Given the description of an element on the screen output the (x, y) to click on. 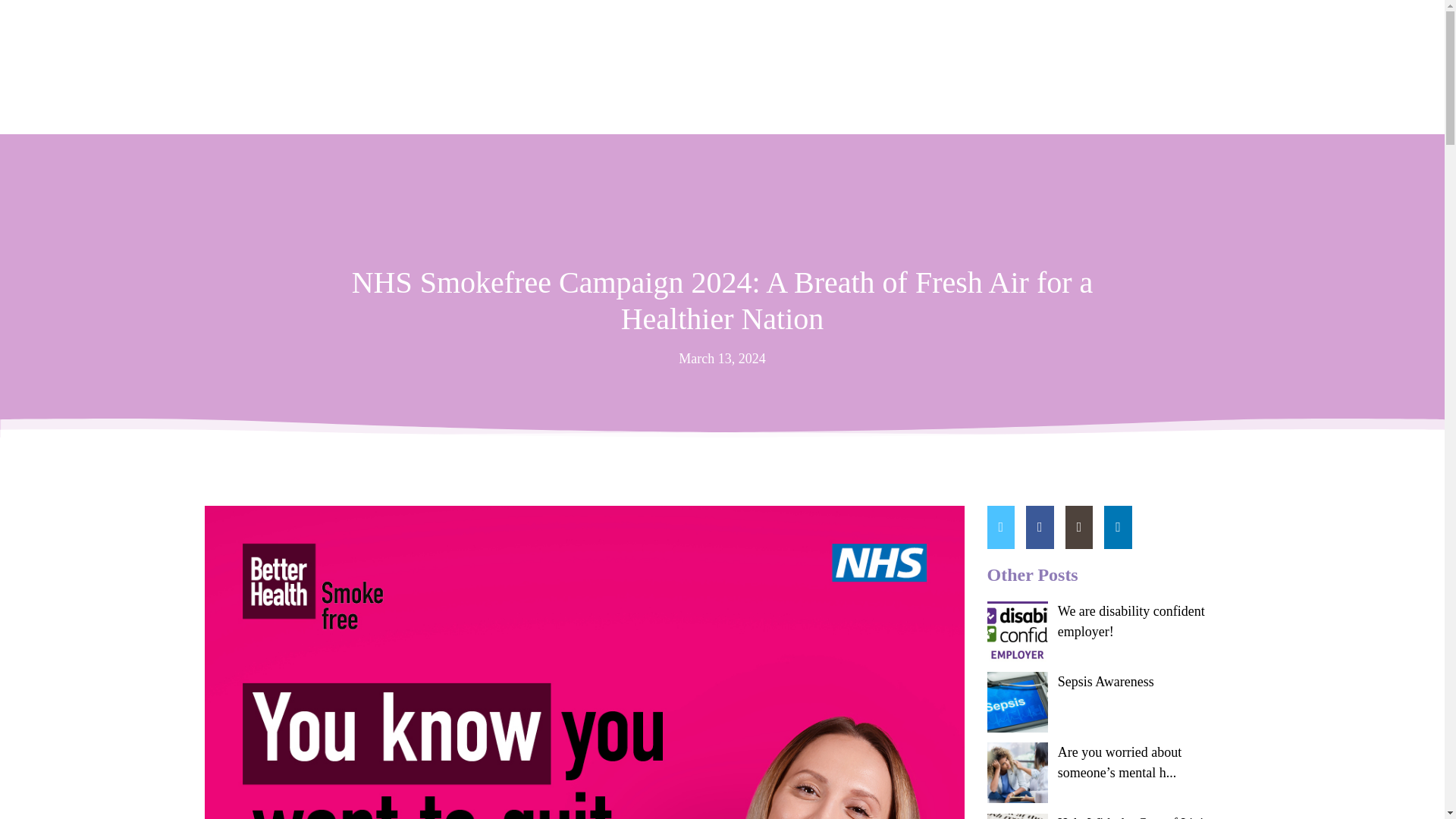
CAREERS (974, 93)
NEWS (909, 93)
ABOUT (761, 93)
CONTACT (1053, 93)
STAFF AREA (1140, 93)
Instagram (1162, 63)
Facebook (1099, 63)
Twitter (1131, 63)
HOME (703, 93)
LinkedIn (1186, 63)
SERVICES (843, 93)
